Given the description of an element on the screen output the (x, y) to click on. 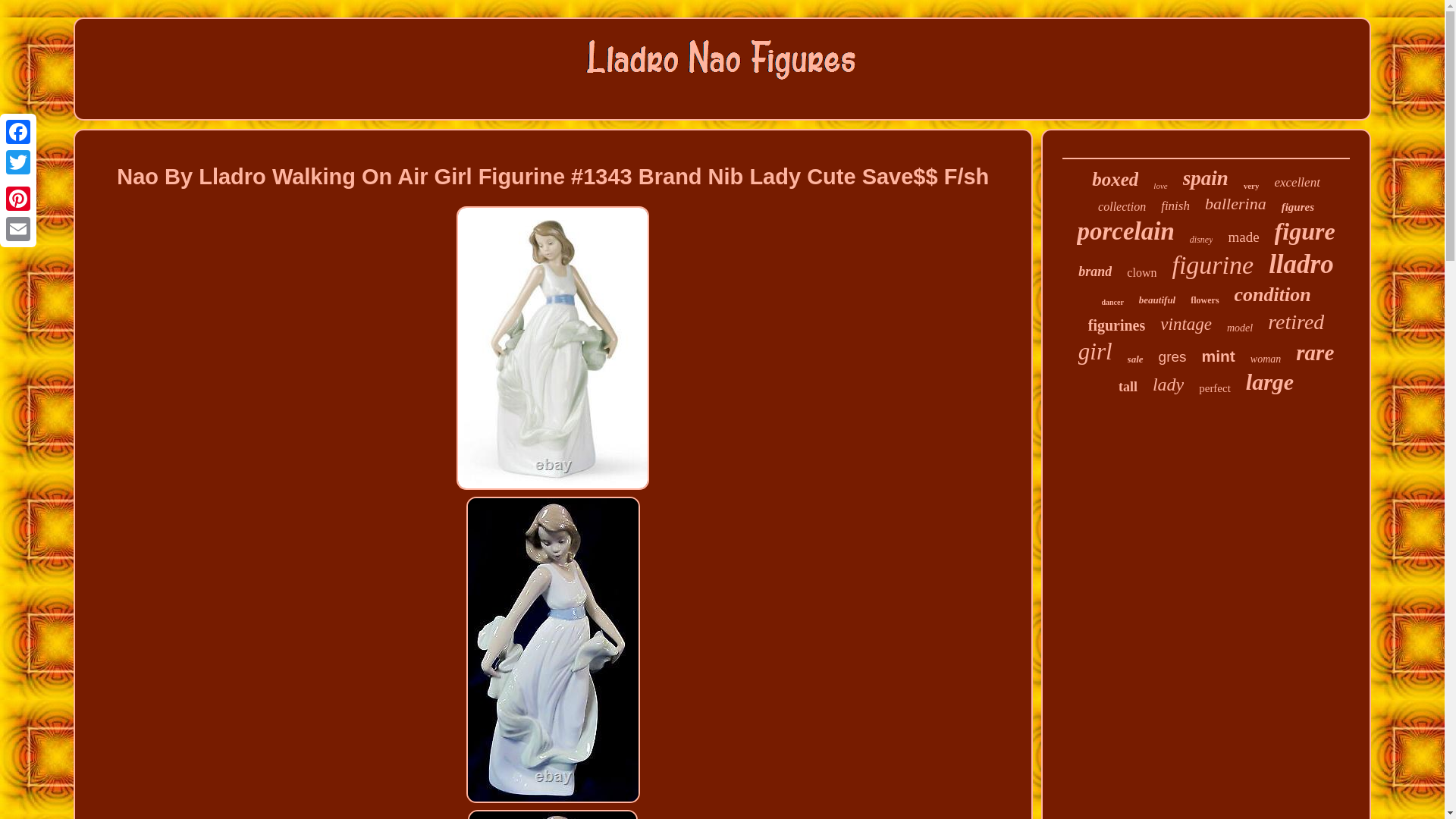
disney (1200, 239)
spain (1205, 178)
girl (1095, 351)
Twitter (17, 162)
flowers (1204, 300)
ballerina (1235, 203)
Email (17, 228)
brand (1095, 271)
sale (1134, 358)
figure (1305, 231)
